Given the description of an element on the screen output the (x, y) to click on. 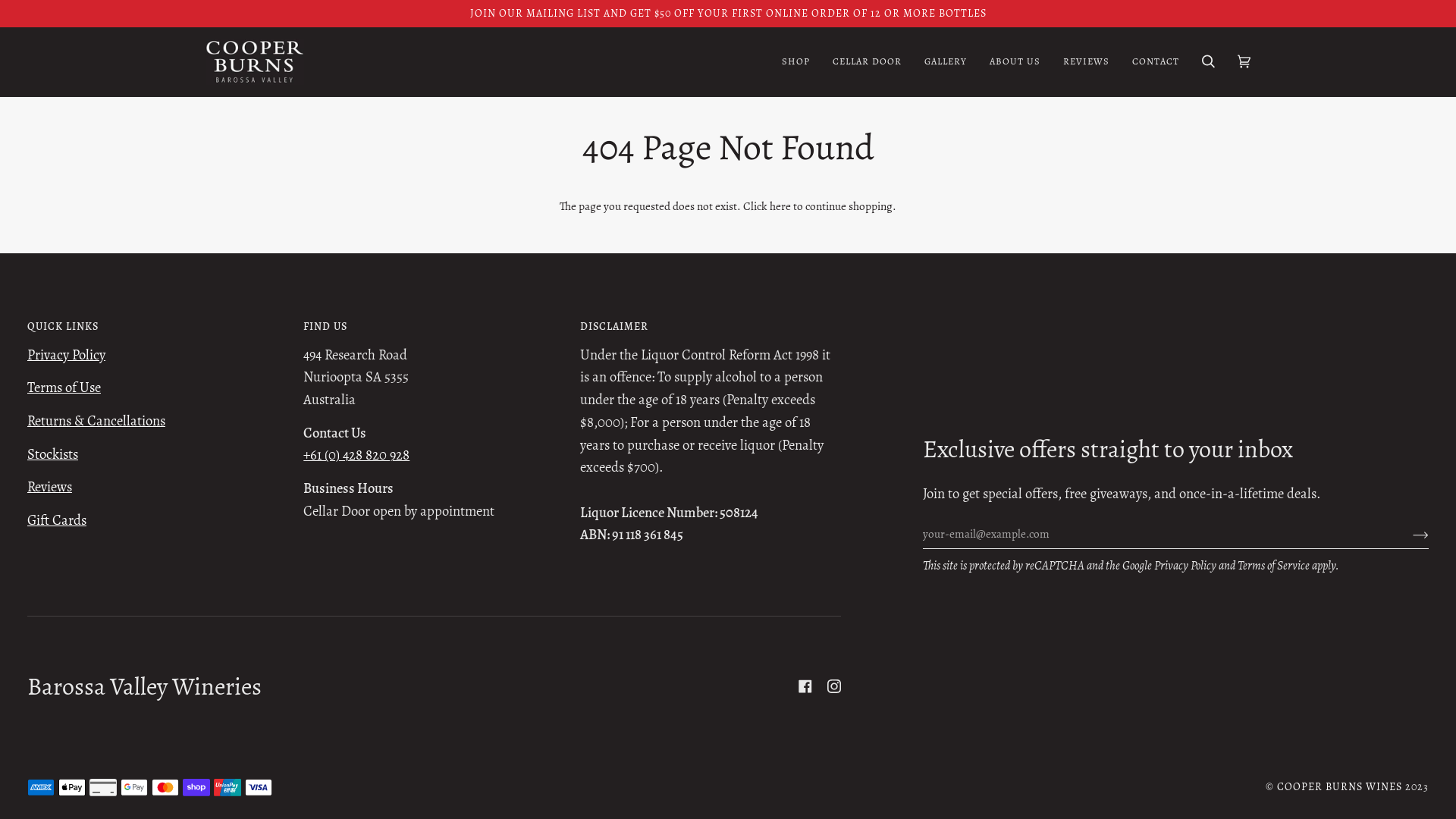
Reviews Element type: text (49, 485)
+61 (0) 428 820 928 Element type: text (356, 454)
CART
(0) Element type: text (1243, 61)
SHOP Element type: text (795, 61)
CONTACT Element type: text (1155, 61)
GALLERY Element type: text (945, 61)
Privacy Policy Element type: text (1185, 565)
Terms of Service Element type: text (1273, 565)
SEARCH Element type: text (1208, 61)
Gift Cards Element type: text (56, 519)
Terms of Use Element type: text (63, 386)
Stockists Element type: text (52, 453)
Returns & Cancellations Element type: text (96, 420)
REVIEWS Element type: text (1085, 61)
here Element type: text (779, 205)
Privacy Policy Element type: text (66, 354)
Facebook Element type: text (805, 686)
Instagram Element type: text (833, 686)
ABOUT US Element type: text (1014, 61)
CELLAR DOOR Element type: text (867, 61)
COOPER BURNS WINES Element type: text (1339, 786)
